Given the description of an element on the screen output the (x, y) to click on. 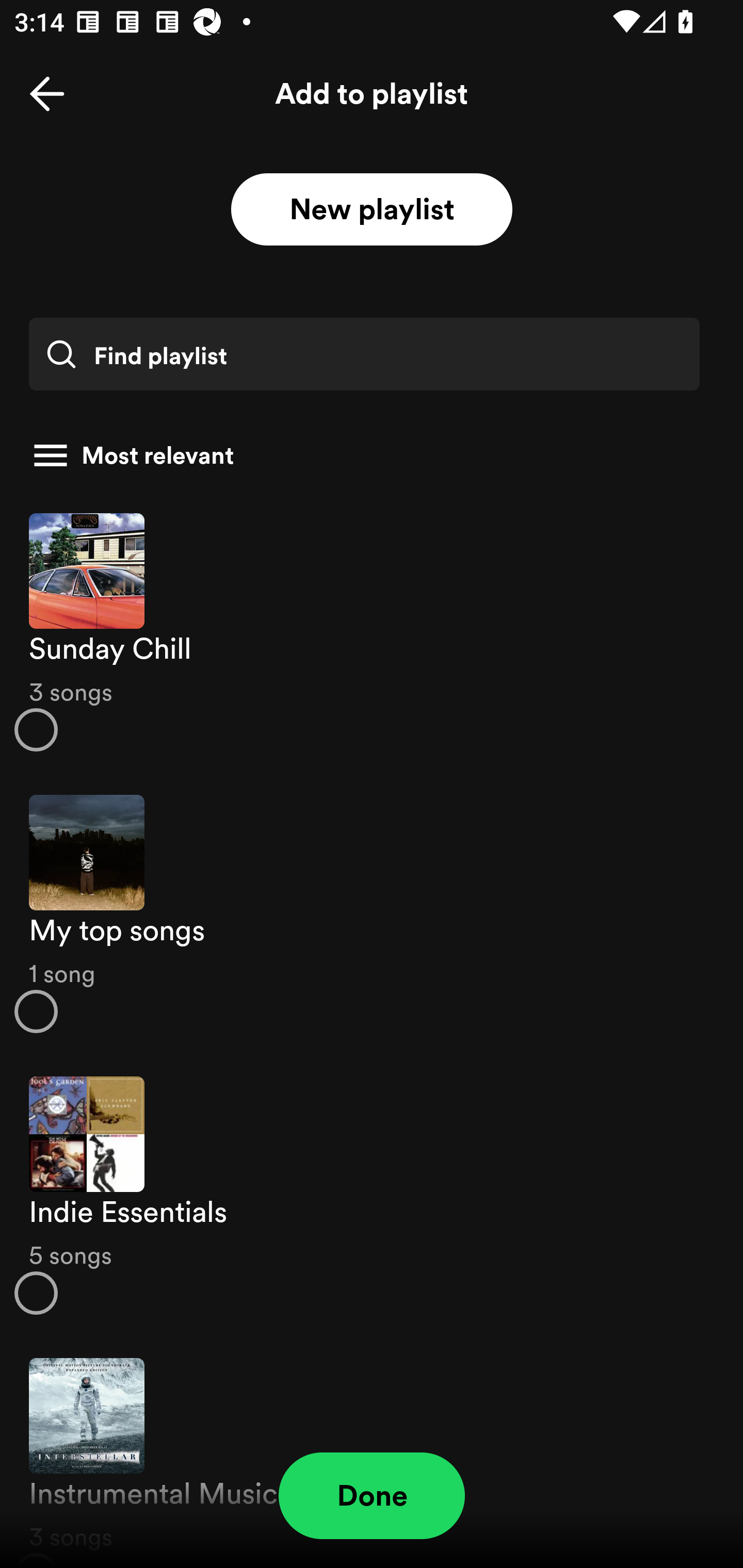
Back (46, 93)
New playlist (371, 210)
Find playlist (363, 354)
Most relevant (363, 455)
Sunday Chill 3 songs (371, 631)
My top songs 1 song (371, 914)
Indie Essentials 5 songs (371, 1195)
Instrumental Music 3 songs (371, 1451)
Done (371, 1495)
